Given the description of an element on the screen output the (x, y) to click on. 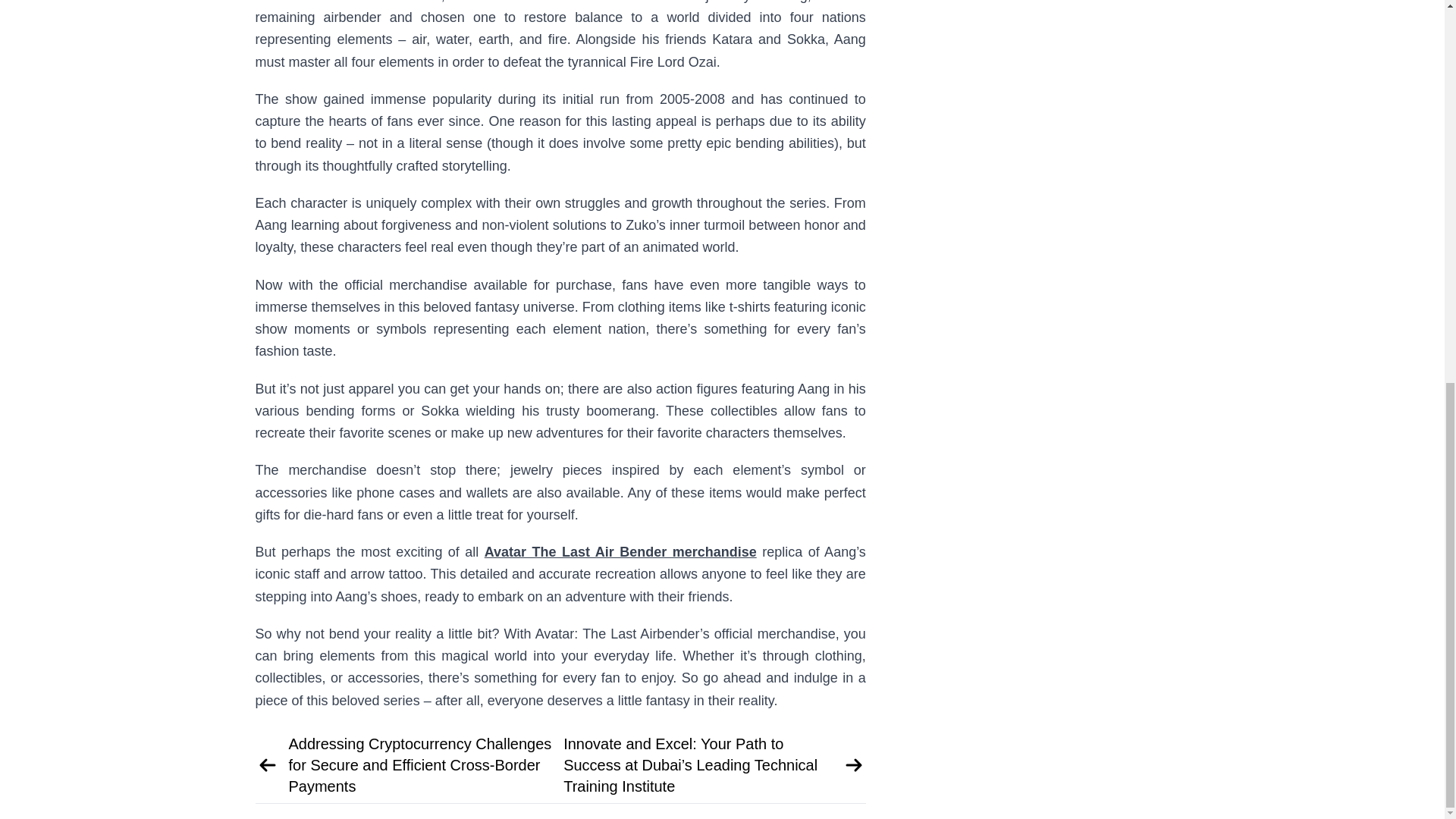
Avatar The Last Air Bender merchandise (620, 551)
